Given the description of an element on the screen output the (x, y) to click on. 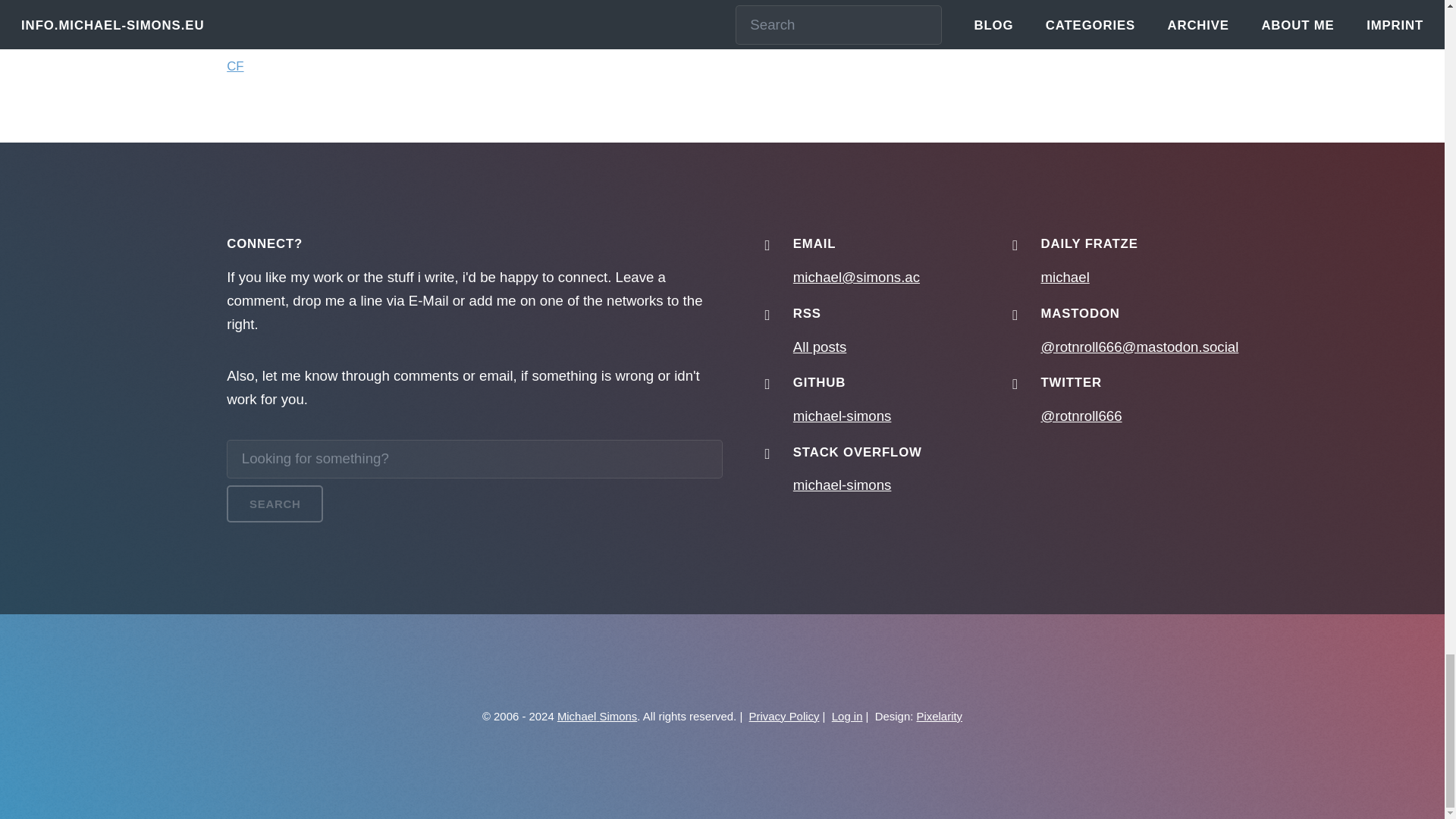
Search (275, 503)
Submit (446, 2)
